Given the description of an element on the screen output the (x, y) to click on. 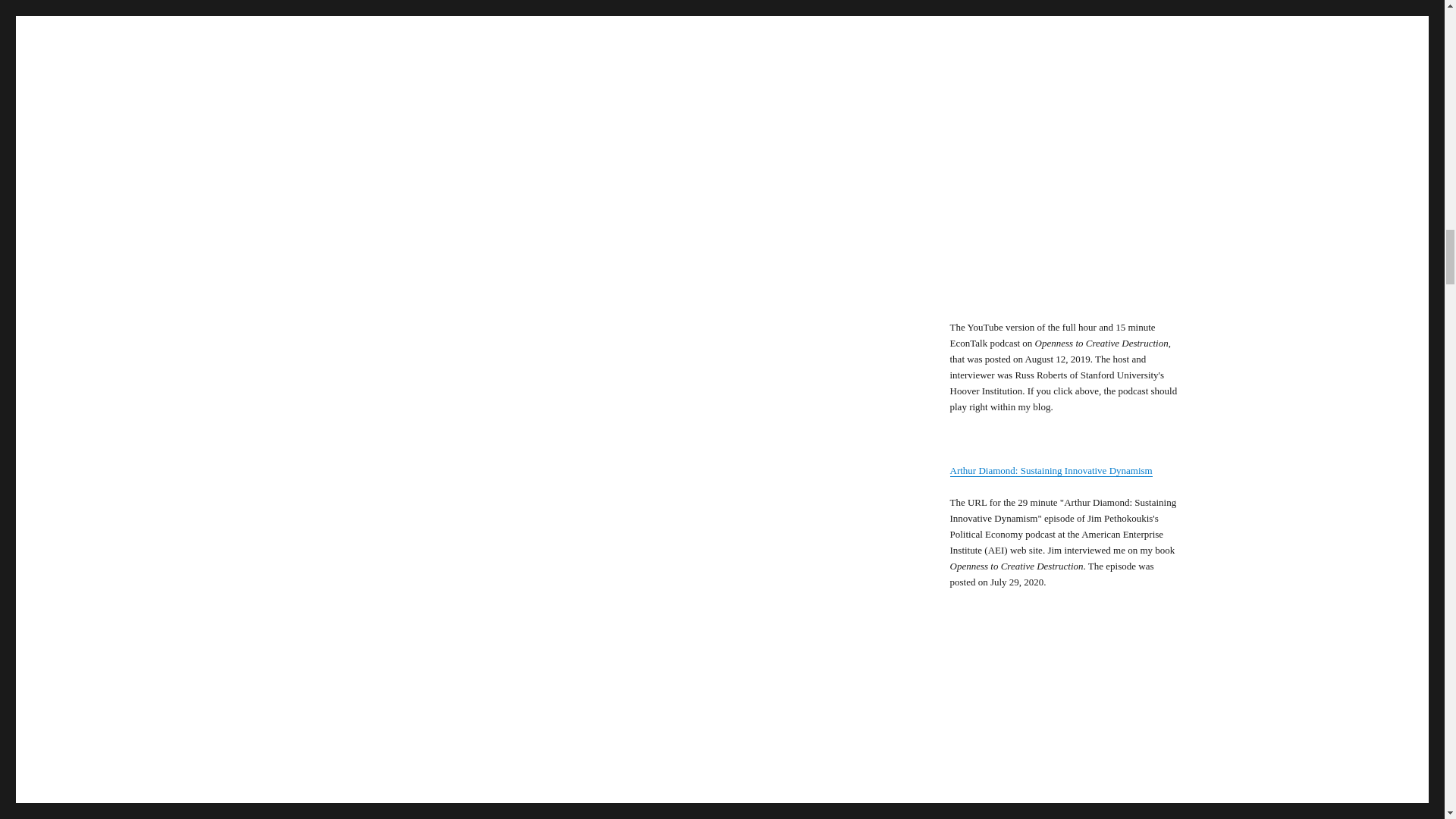
Arthur Diamond: Sustaining Innovative Dynamism (1050, 470)
